Given the description of an element on the screen output the (x, y) to click on. 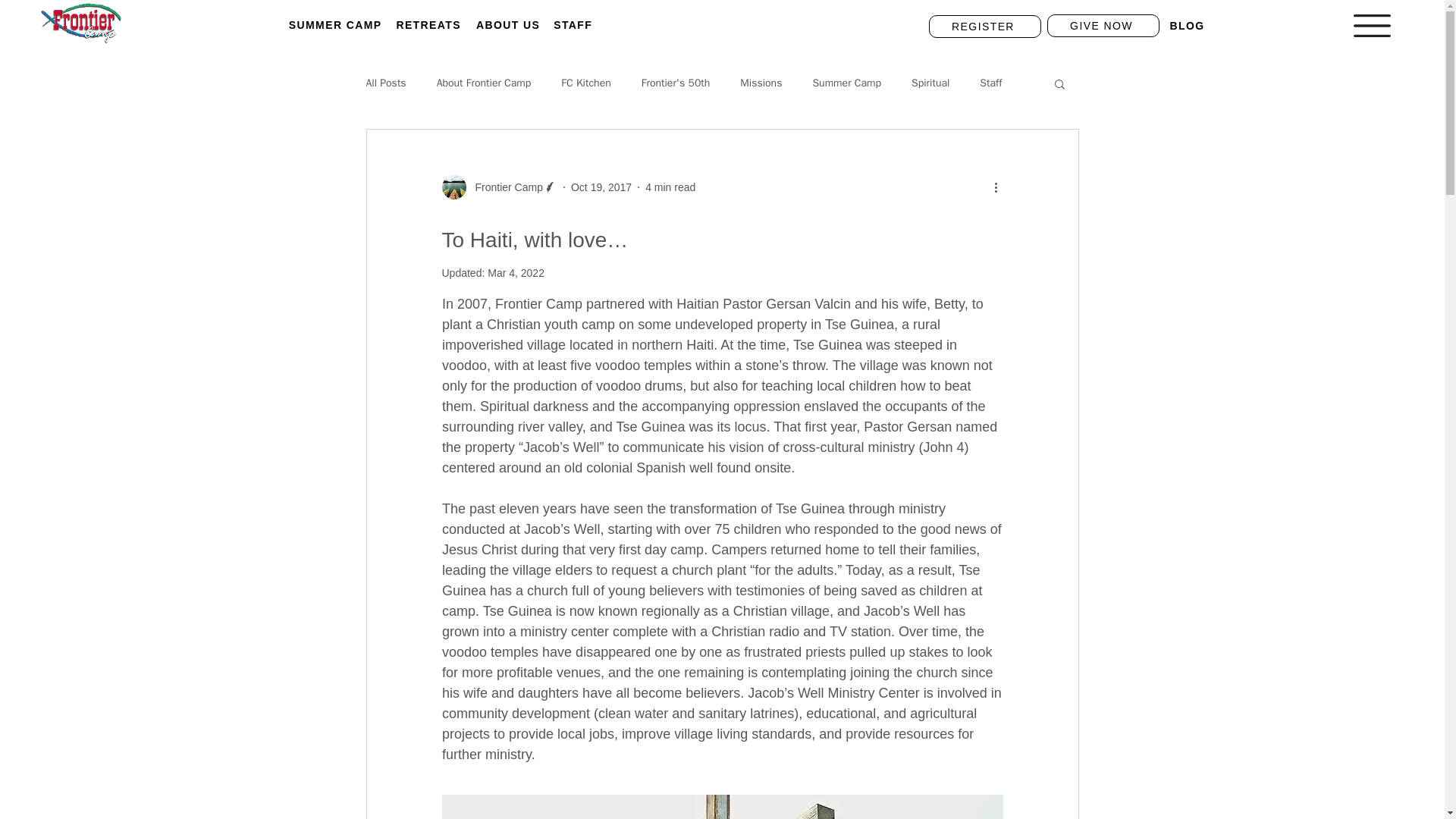
GIVE NOW (1102, 25)
Mar 4, 2022 (515, 272)
Frontier Camp (498, 187)
Summer Camp (846, 83)
ABOUT US (509, 24)
Frontier's 50th (676, 83)
Spiritual (930, 83)
REGISTER (984, 26)
FC Kitchen (585, 83)
BLOG (1206, 25)
SUMMER CAMP (337, 24)
About Frontier Camp (483, 83)
RETREATS (430, 24)
STAFF (590, 24)
Oct 19, 2017 (600, 186)
